Given the description of an element on the screen output the (x, y) to click on. 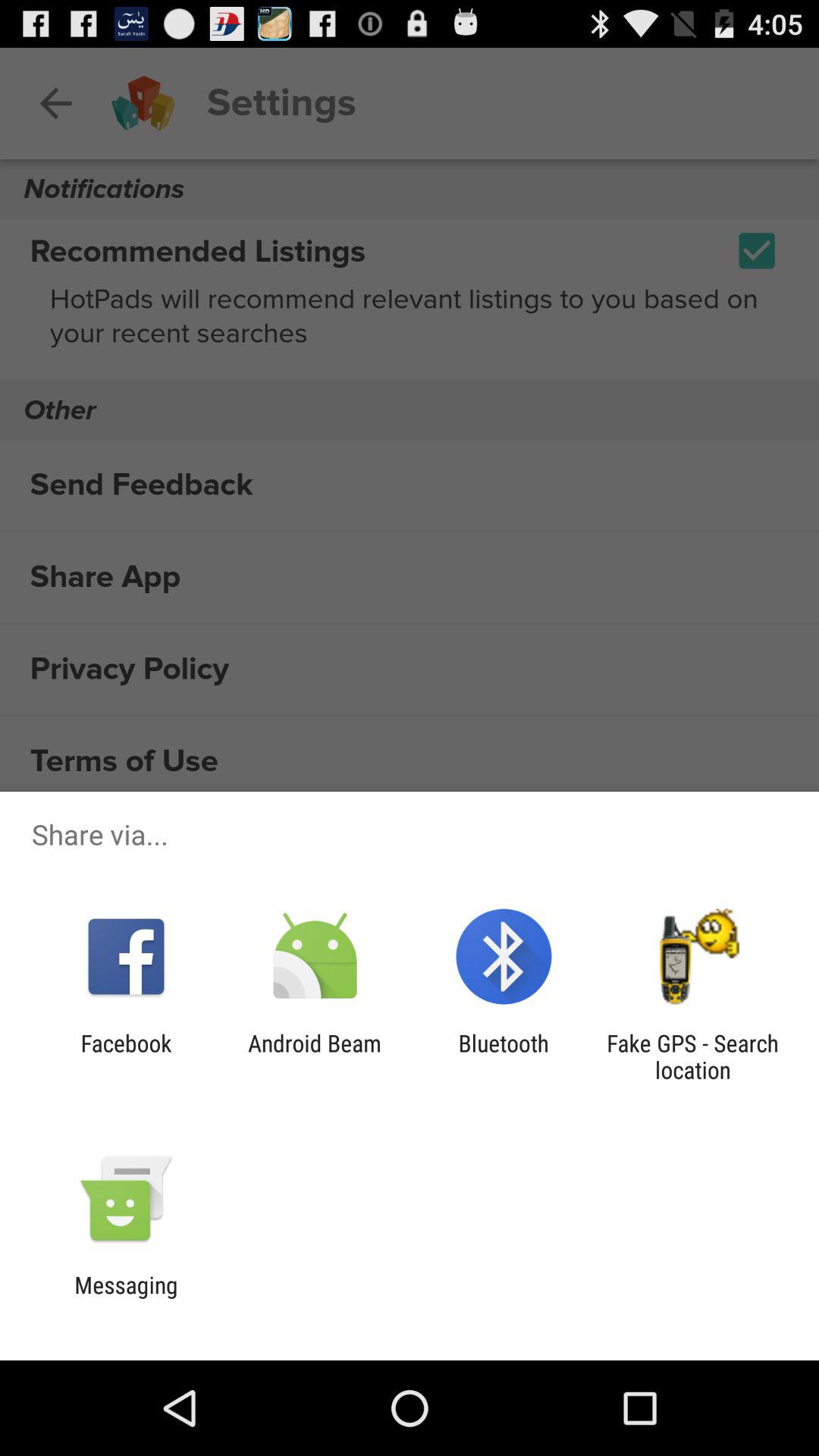
jump to android beam icon (314, 1056)
